Given the description of an element on the screen output the (x, y) to click on. 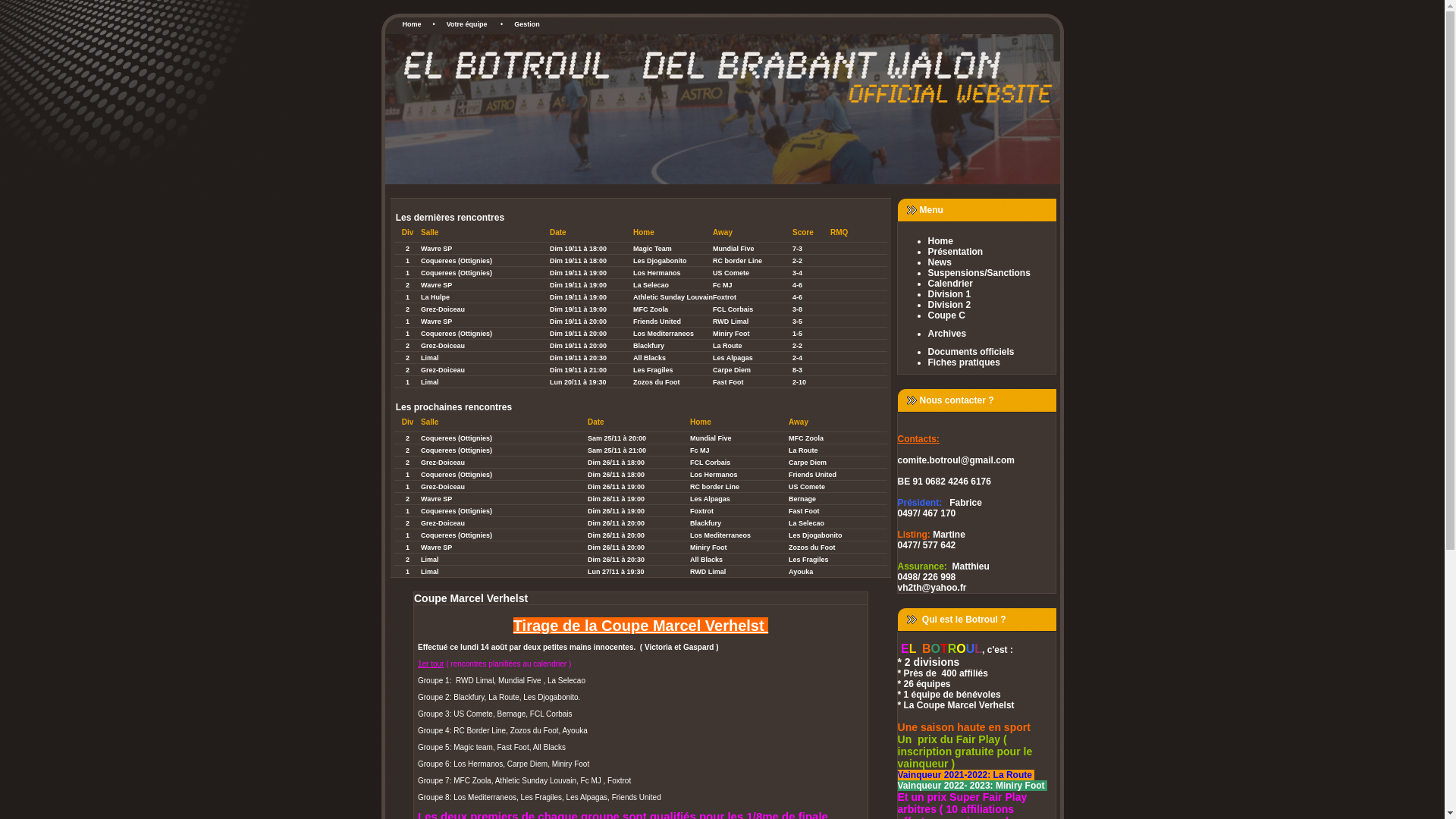
Calendrier Element type: text (991, 283)
Suspensions/Sanctions Element type: text (991, 272)
Division 2 Element type: text (991, 304)
Fiches pratiques Element type: text (991, 362)
Archives Element type: text (991, 333)
Documents officiels Element type: text (991, 351)
News Element type: text (991, 262)
Home Element type: text (411, 23)
Home Element type: text (991, 240)
Division 1 Element type: text (991, 293)
Coupe C Element type: text (991, 315)
Gestion Element type: text (526, 23)
